Given the description of an element on the screen output the (x, y) to click on. 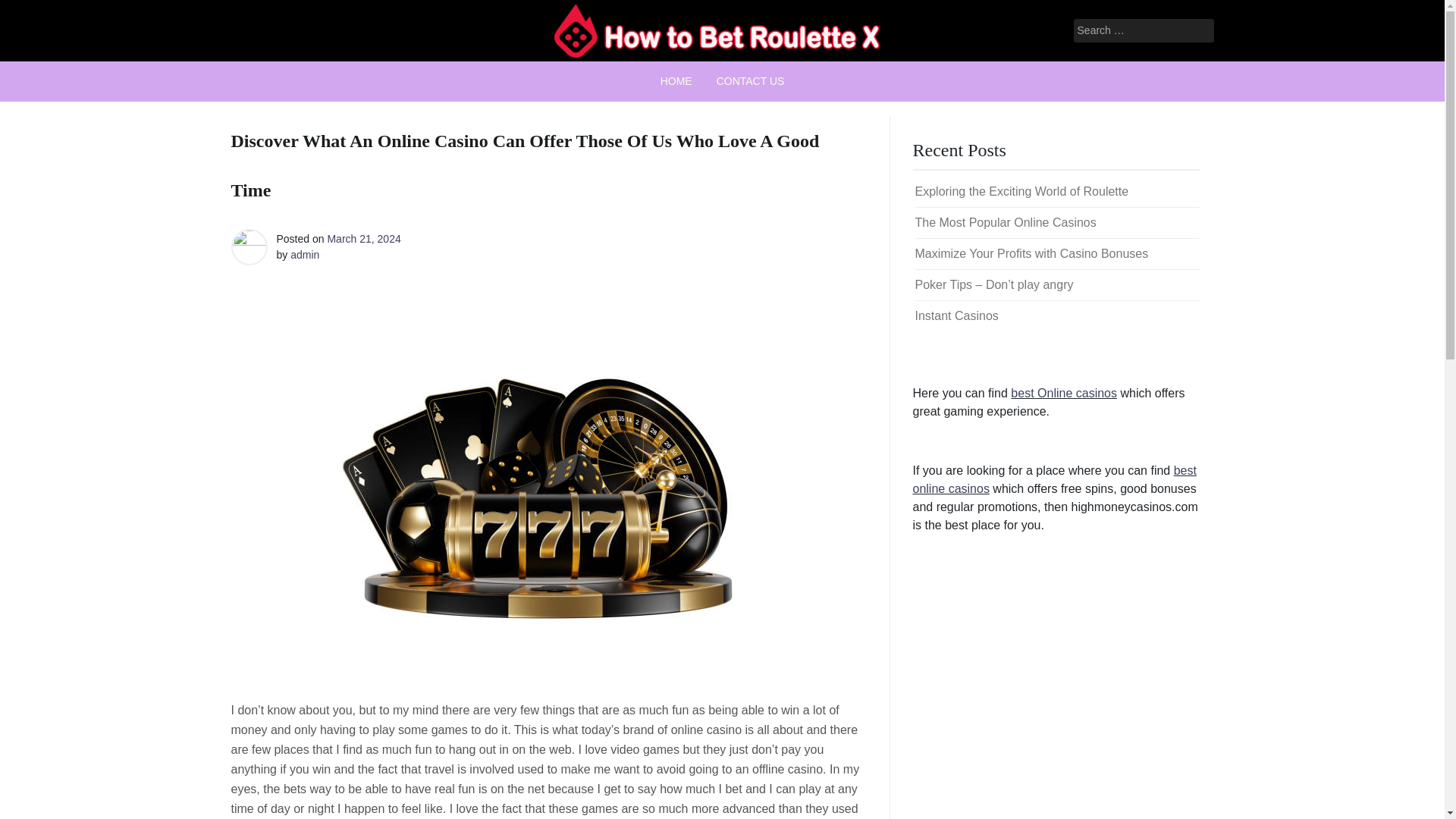
Search (30, 12)
Exploring the Exciting World of Roulette (1021, 191)
admin (303, 254)
Maximize Your Profits with Casino Bonuses (1031, 253)
Instant Casinos (955, 315)
The Most Popular Online Casinos (1005, 222)
best online casinos (1054, 479)
CONTACT US (750, 81)
March 21, 2024 (363, 238)
HOME (675, 81)
